Given the description of an element on the screen output the (x, y) to click on. 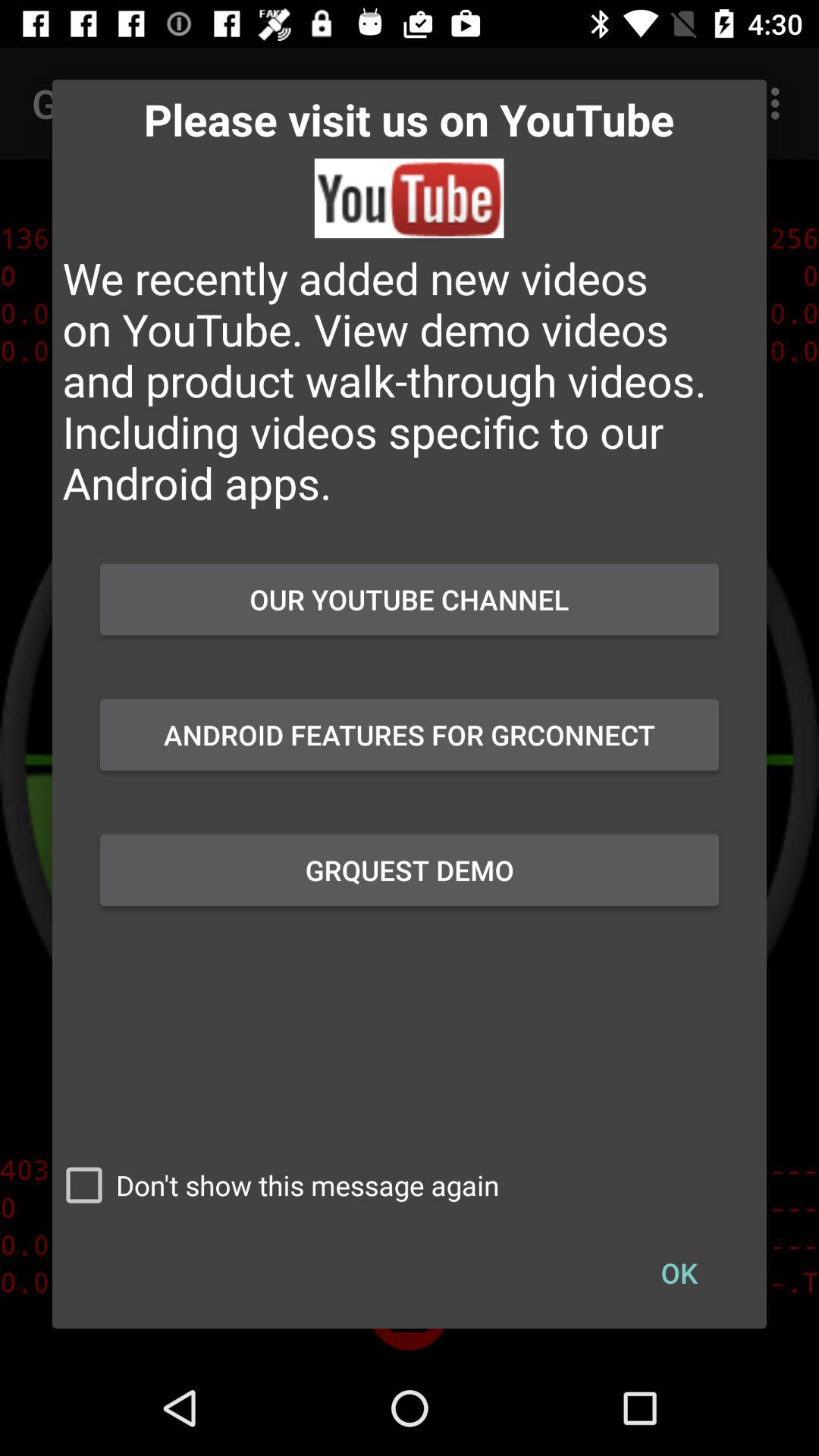
turn on icon above grquest demo item (409, 734)
